Given the description of an element on the screen output the (x, y) to click on. 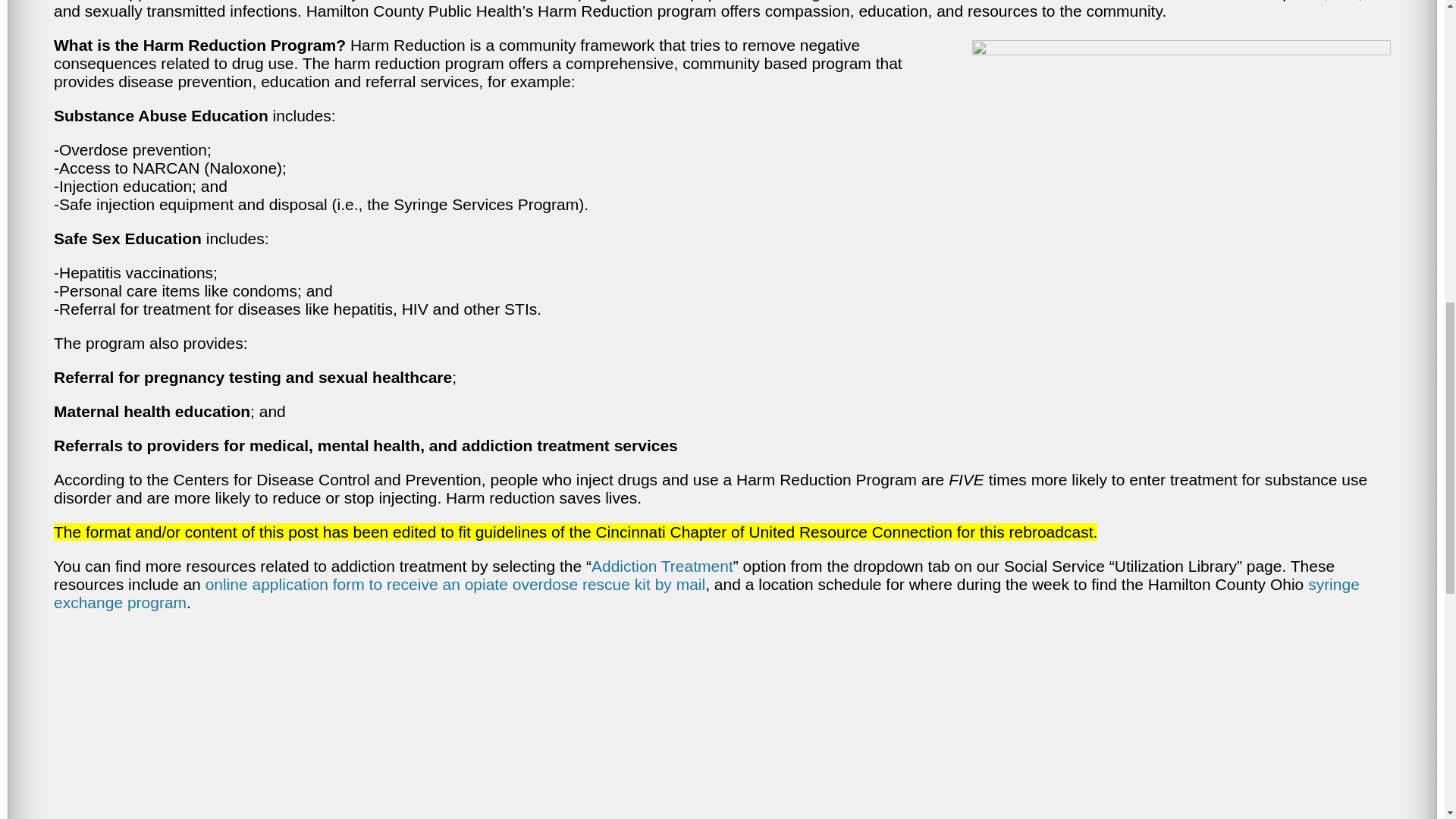
syringe exchange program (706, 592)
Addiction Treatment (662, 565)
